Given the description of an element on the screen output the (x, y) to click on. 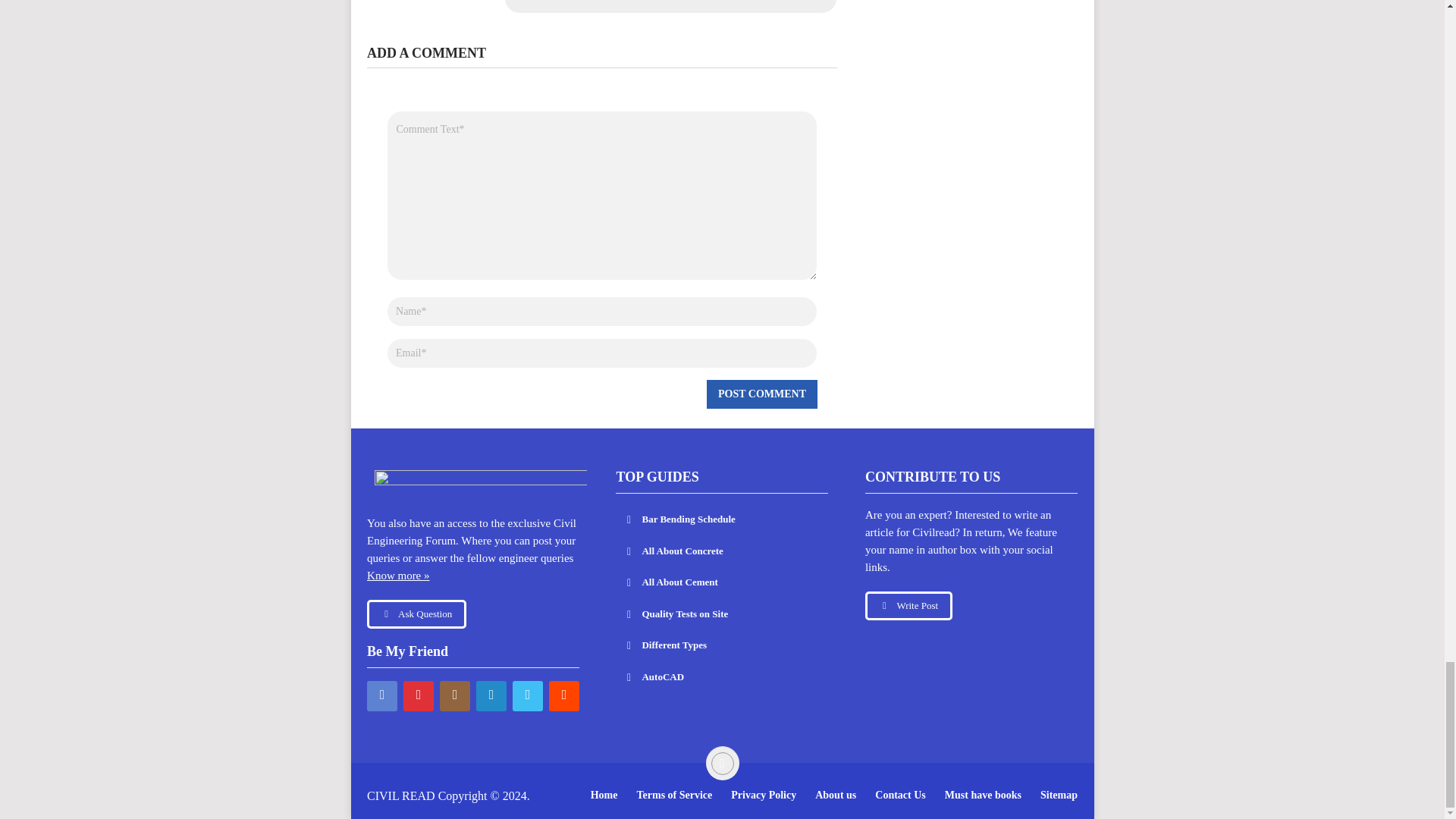
Post Comment (761, 394)
